Given the description of an element on the screen output the (x, y) to click on. 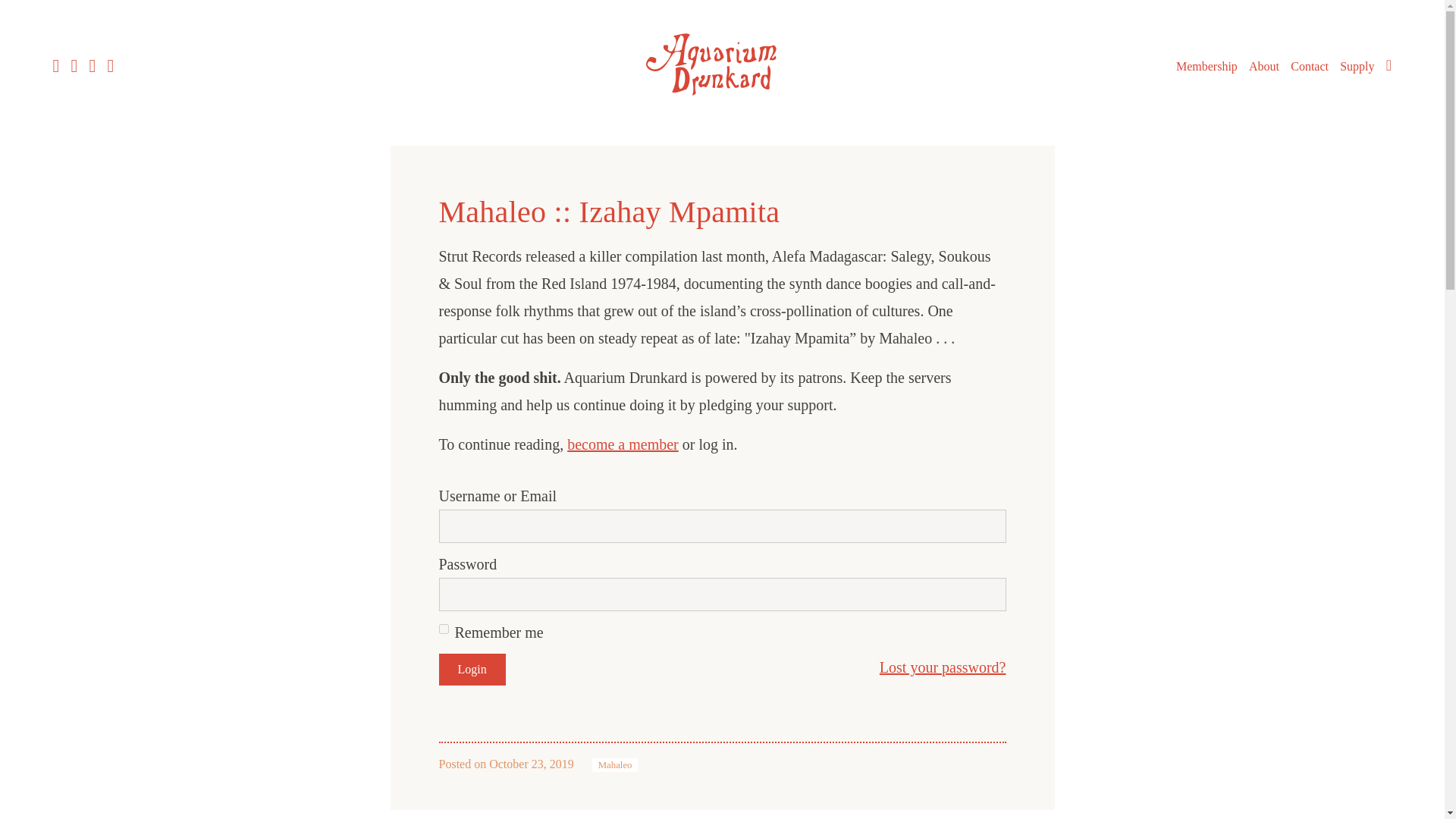
Aquarium Drunkard (721, 100)
1 (443, 628)
About (1264, 66)
Mahaleo (615, 765)
become a member (622, 443)
Contact (1308, 66)
Contact Aquarium Drunkard (1308, 66)
Lost your password? (942, 667)
Login (471, 669)
Aquarium Drunkard Merch Shop (1356, 66)
Supply (1356, 66)
October 23, 2019 (531, 763)
Search (1388, 64)
Aquarium Drunkard (721, 64)
Login (471, 669)
